Given the description of an element on the screen output the (x, y) to click on. 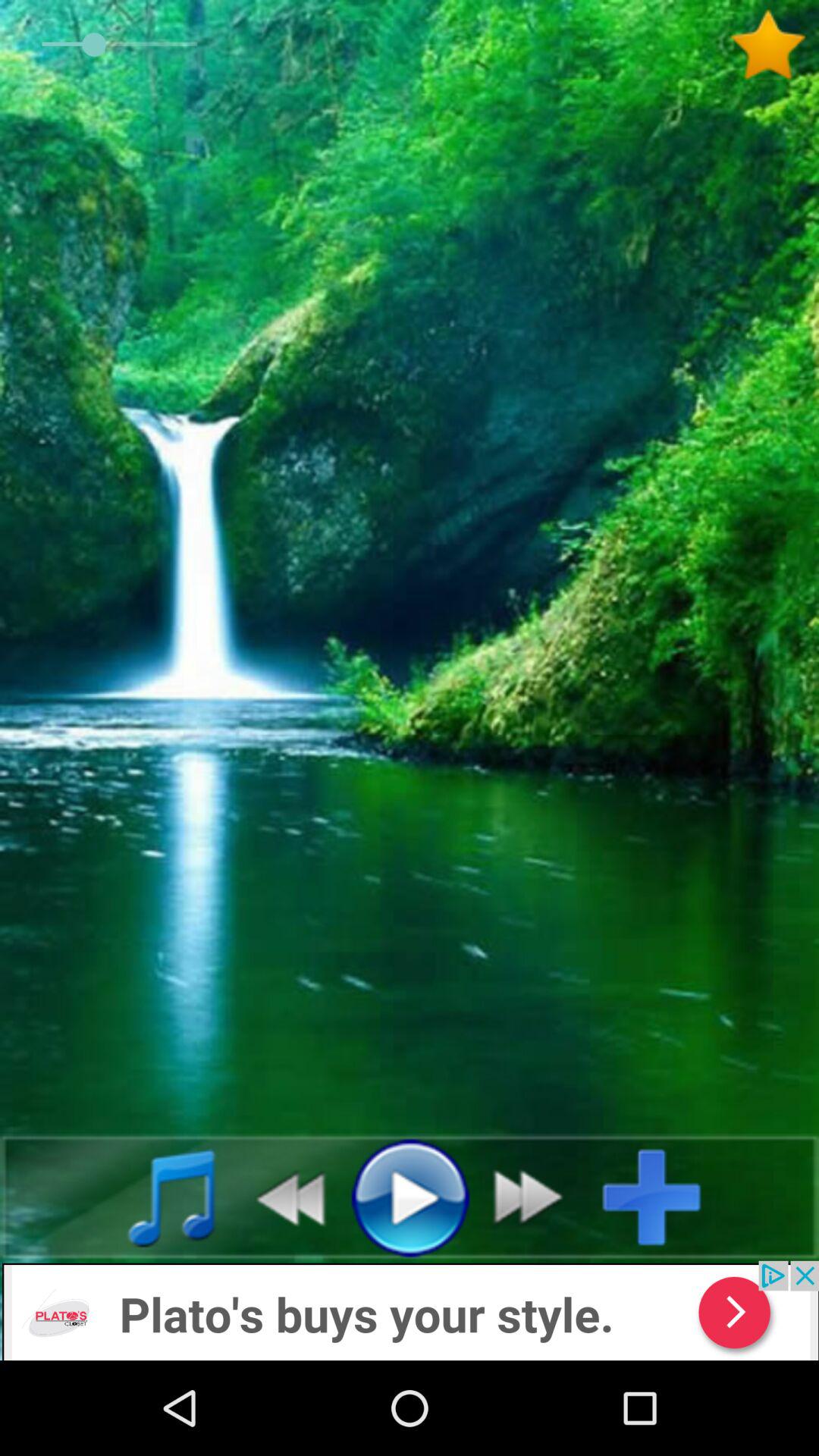
plato 's advertisement (409, 1310)
